Given the description of an element on the screen output the (x, y) to click on. 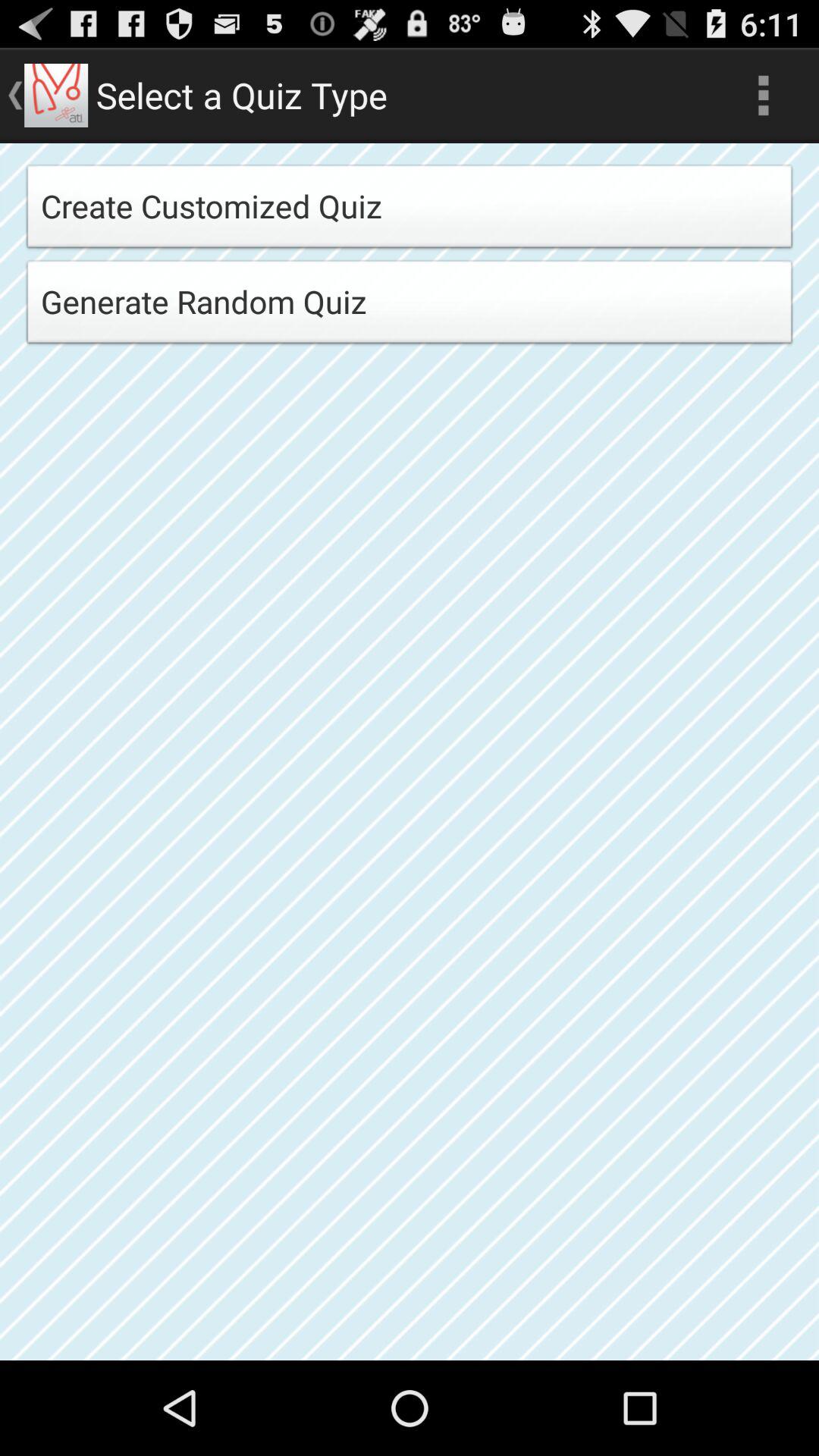
turn on the app to the right of select a quiz icon (763, 95)
